Given the description of an element on the screen output the (x, y) to click on. 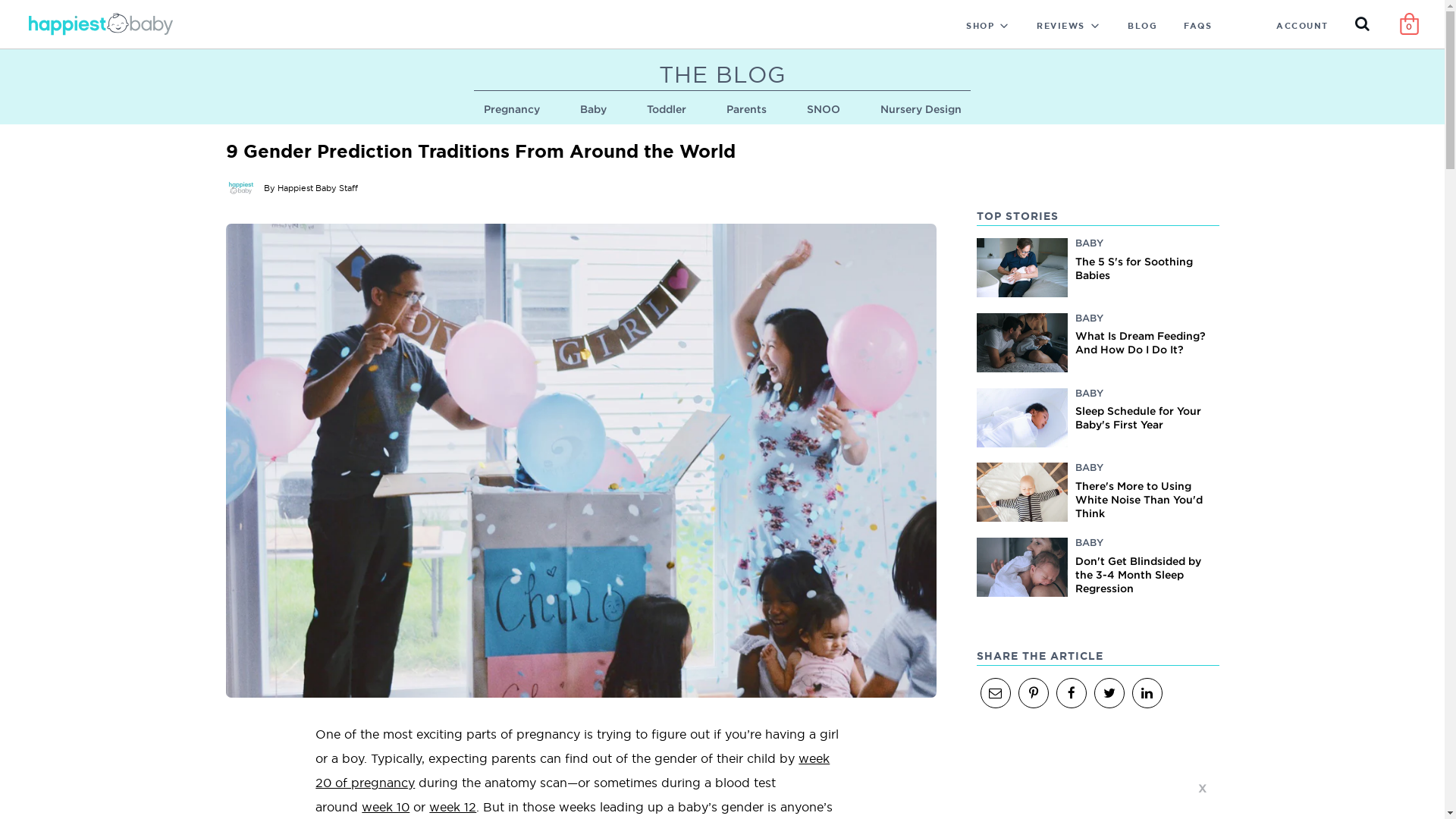
Share via Email Element type: text (994, 692)
Share on Twitter Element type: text (1108, 692)
Pregnancy Element type: text (511, 108)
Sleep Schedule for Your Baby's First Year Element type: text (1138, 416)
What Is Dream Feeding? And How Do I Do It? Element type: text (1140, 341)
FAQS Element type: text (1197, 24)
Baby Element type: text (592, 108)
Parents Element type: text (746, 108)
There's More to Using White Noise Than You'd Think Element type: text (1138, 499)
Share on FaceBook Element type: text (1070, 692)
The 5 S's for Soothing Babies Element type: text (1133, 266)
ACCOUNT Element type: text (1302, 24)
Expandable Navigation Element type: text (1007, 24)
THE BLOG Element type: text (721, 77)
Share on LinkedIn Element type: text (1146, 692)
0 Element type: text (1408, 23)
Toddler Element type: text (665, 108)
Don't Get Blindsided by the 3-4 Month Sleep Regression Element type: text (1138, 574)
Expandable Navigation Element type: text (1098, 24)
week 12 Element type: text (452, 806)
Nursery Design Element type: text (919, 108)
SNOO Element type: text (823, 108)
week 10 Element type: text (385, 806)
Share on Pinterest Element type: text (1032, 692)
SHOP Element type: text (976, 24)
x Element type: text (1202, 786)
BLOG Element type: text (1142, 24)
week 20 of pregnancy Element type: text (572, 770)
REVIEWS Element type: text (1057, 24)
